Given the description of an element on the screen output the (x, y) to click on. 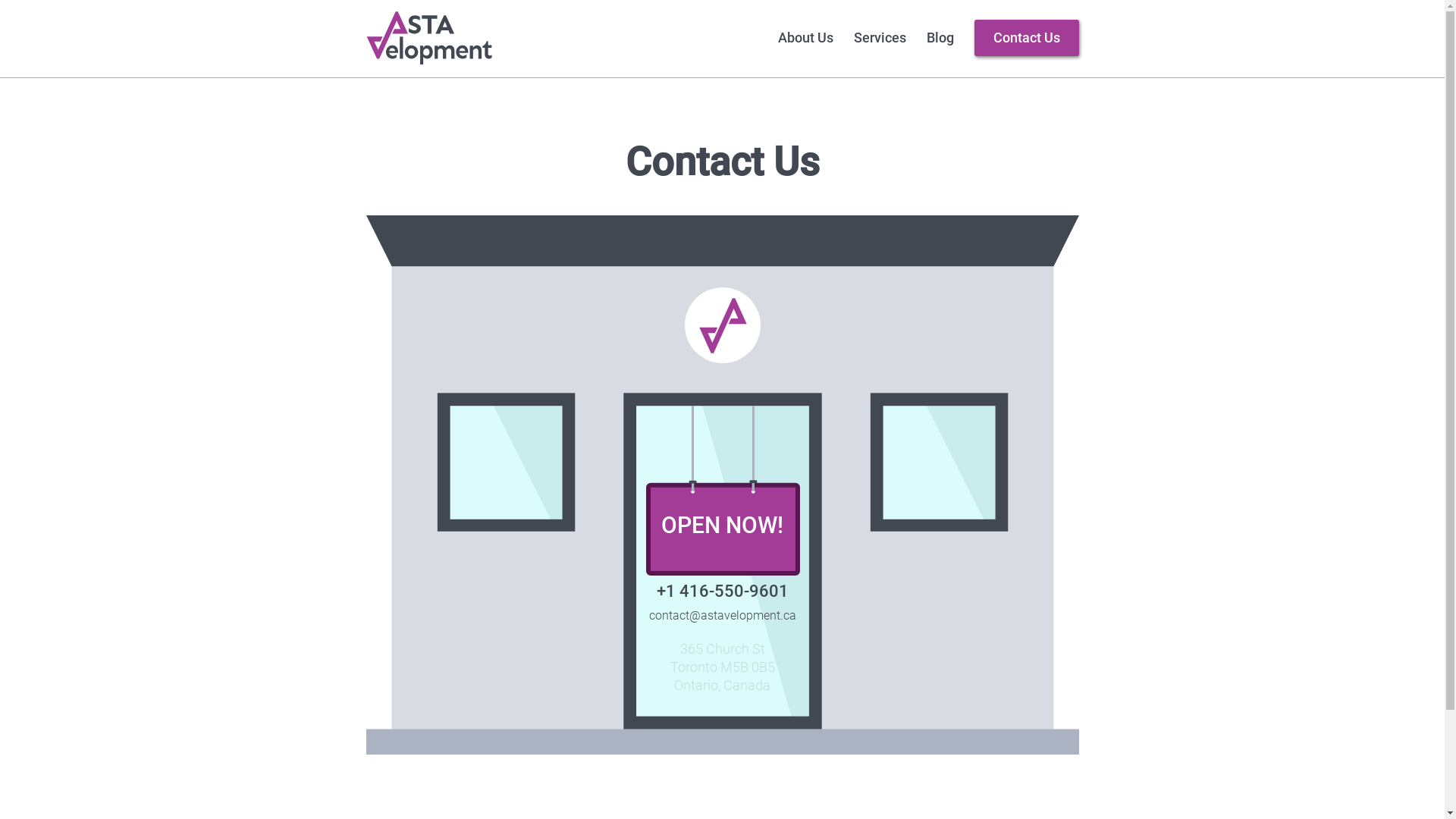
+1 416-550-9601 Element type: text (722, 590)
Services Element type: text (879, 37)
Astavelopment Element type: hover (428, 37)
contact@astavelopment.ca Element type: text (722, 615)
Contact Us Element type: text (1025, 37)
Blog Element type: text (939, 37)
About Us Element type: text (805, 37)
